Given the description of an element on the screen output the (x, y) to click on. 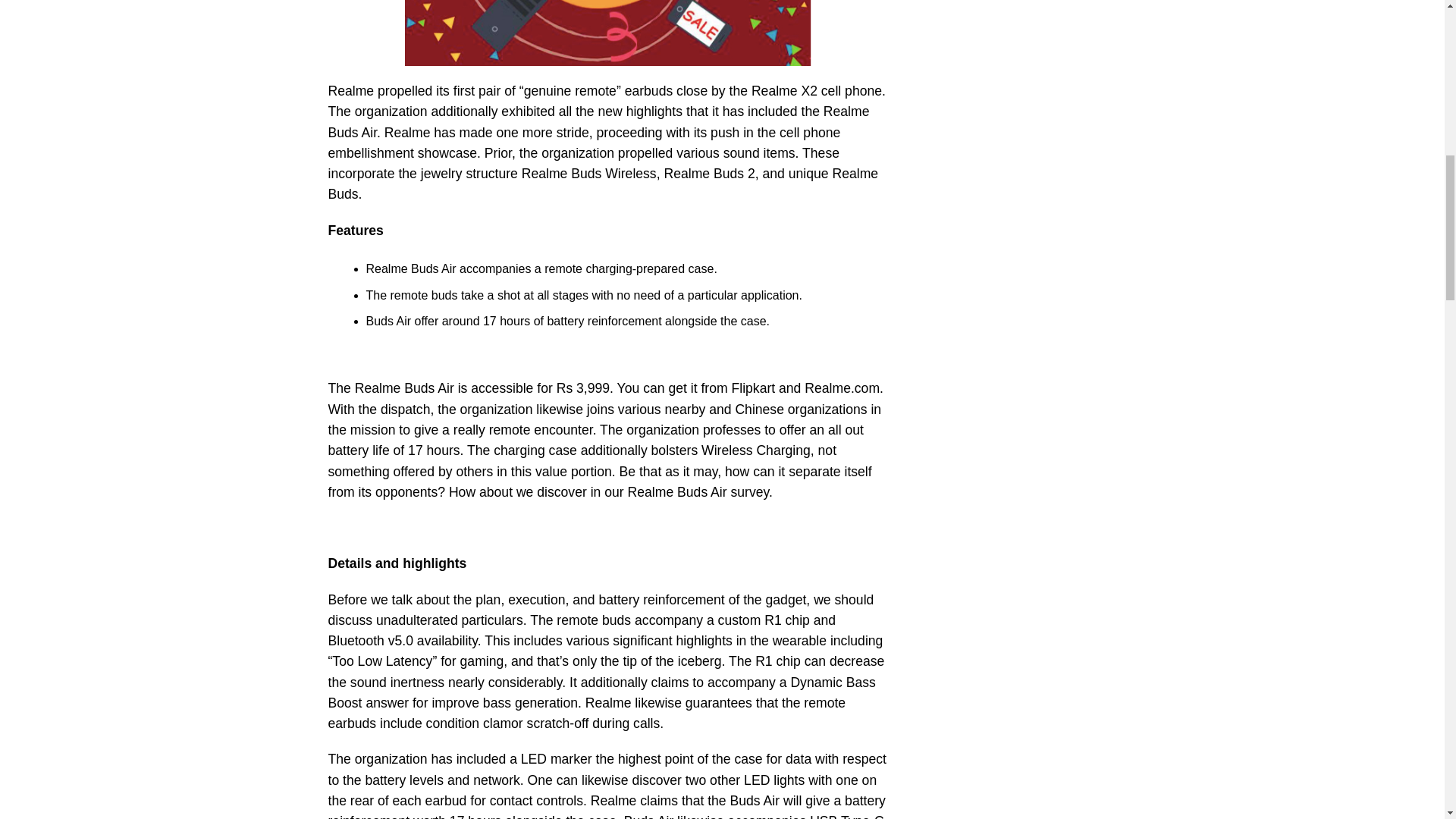
Realme Buds Air Review 4 (608, 33)
